Given the description of an element on the screen output the (x, y) to click on. 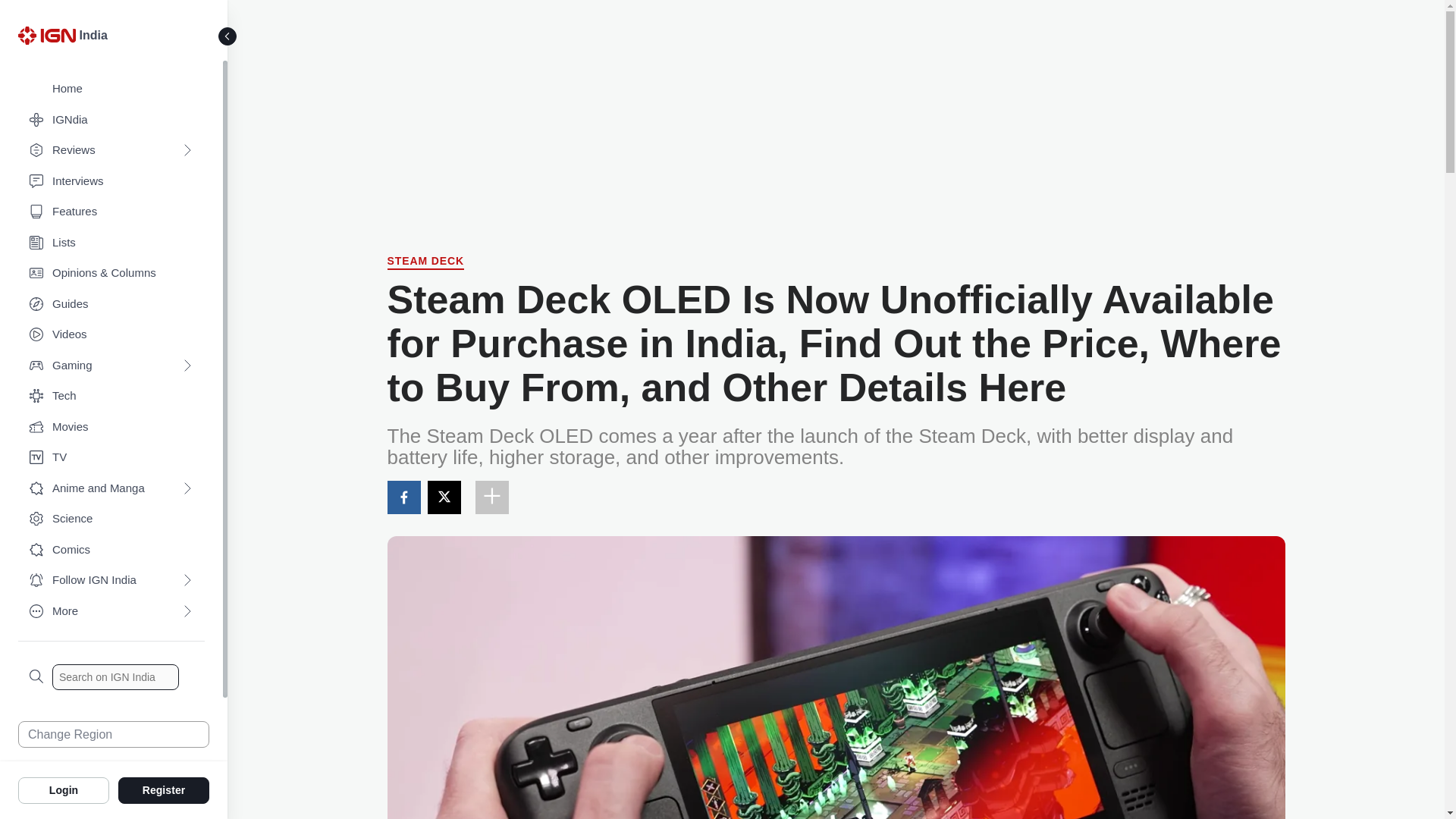
Follow IGN India (111, 580)
Toggle Sidebar (226, 36)
Gaming (111, 365)
Reviews (111, 150)
Interviews (111, 181)
Tech (111, 396)
Movies (111, 427)
Science (111, 518)
TV (111, 457)
IGN Logo (48, 39)
More (111, 610)
Comics (111, 550)
Guides (111, 304)
IGN Logo (46, 34)
Home (111, 89)
